Given the description of an element on the screen output the (x, y) to click on. 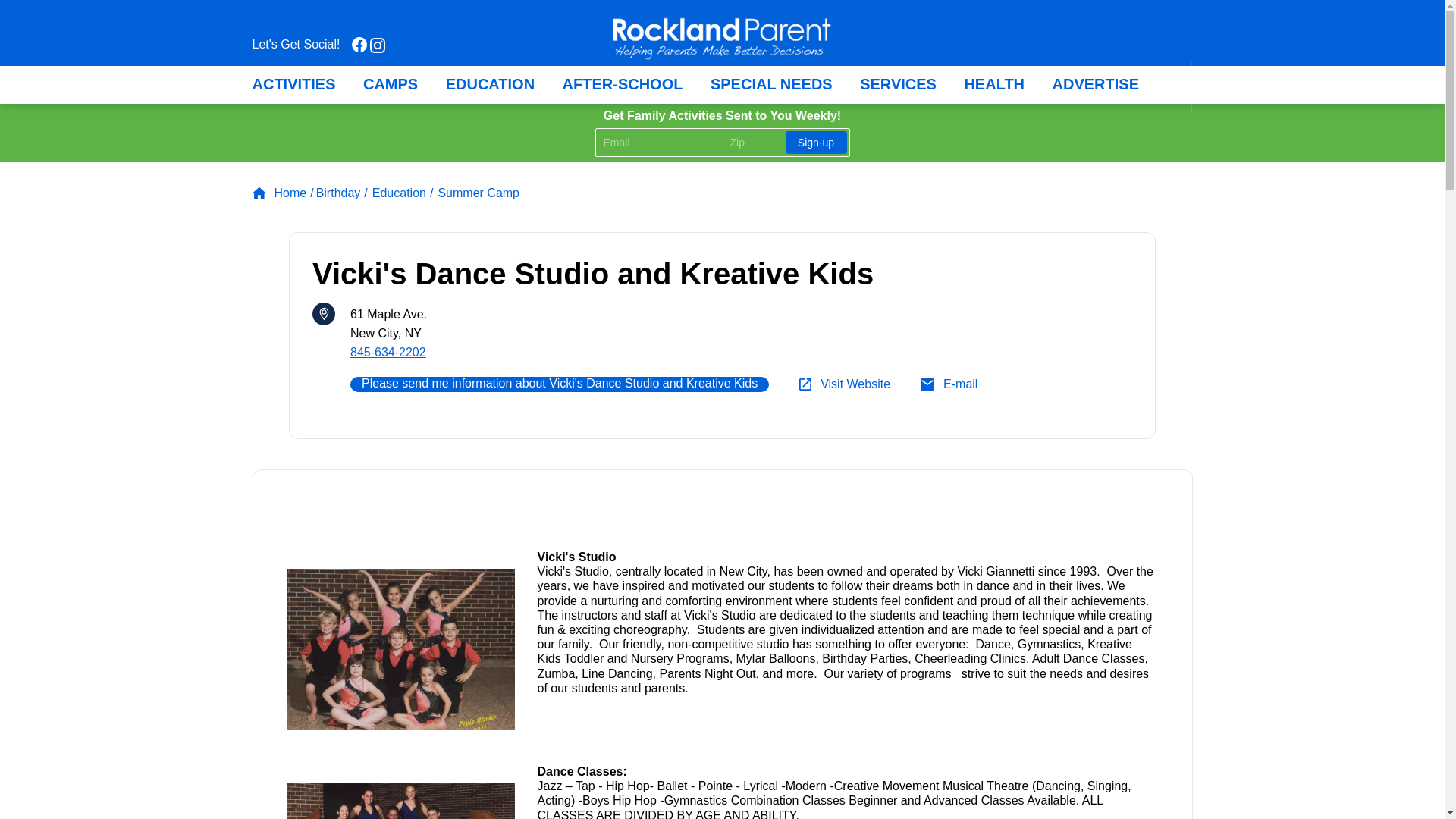
EDUCATION (489, 85)
SPECIAL NEEDS (771, 85)
Home (282, 193)
HEALTH (994, 85)
Visit Website (844, 384)
Summer Camp (478, 193)
845-634-2202 (388, 351)
Sign-up (816, 142)
ACTIVITIES (292, 85)
SERVICES (898, 85)
AFTER-SCHOOL (622, 85)
CAMPS (389, 85)
ADVERTISE (1095, 85)
Education (402, 193)
